Given the description of an element on the screen output the (x, y) to click on. 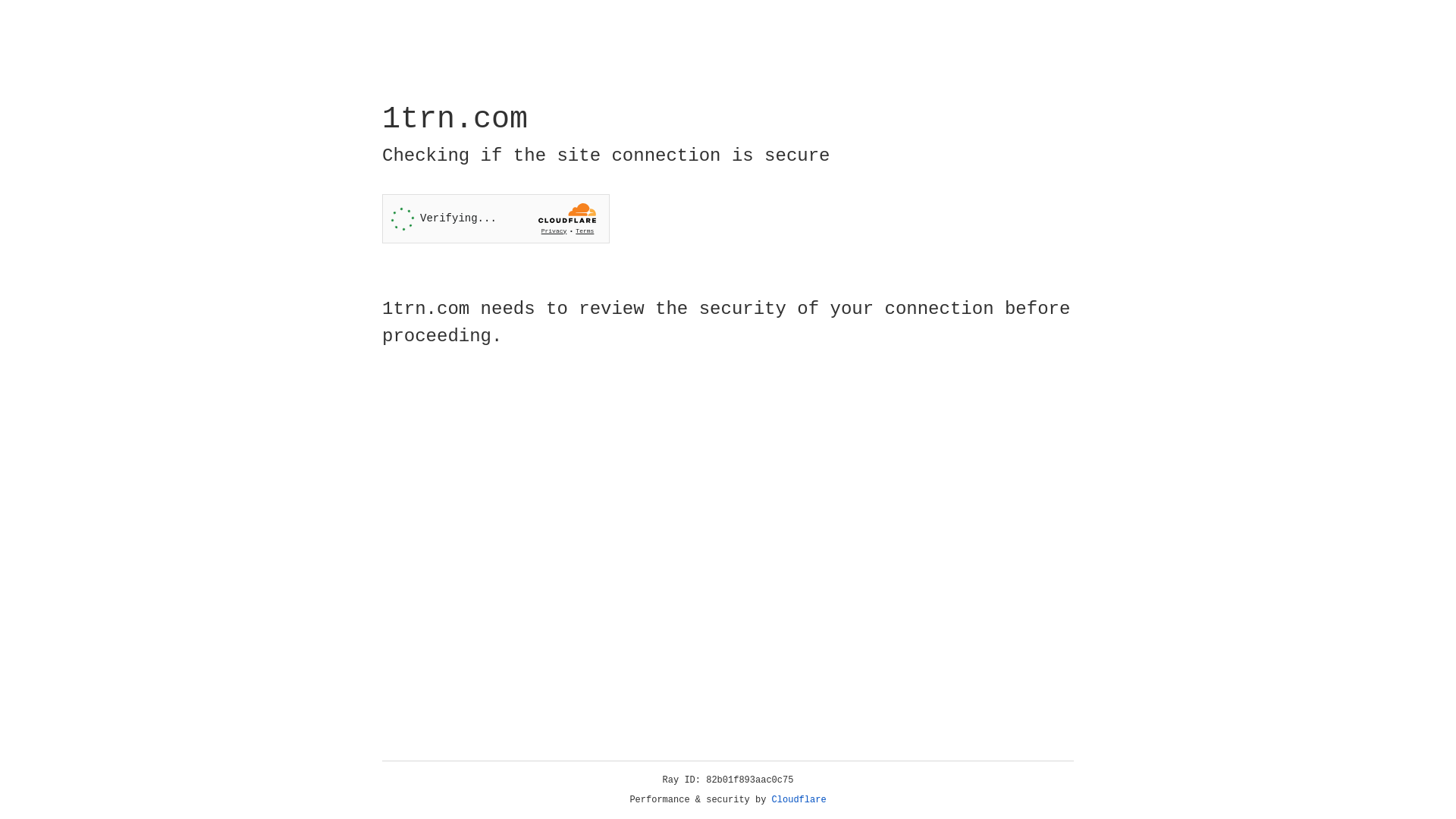
Cloudflare Element type: text (798, 799)
Widget containing a Cloudflare security challenge Element type: hover (495, 218)
